Given the description of an element on the screen output the (x, y) to click on. 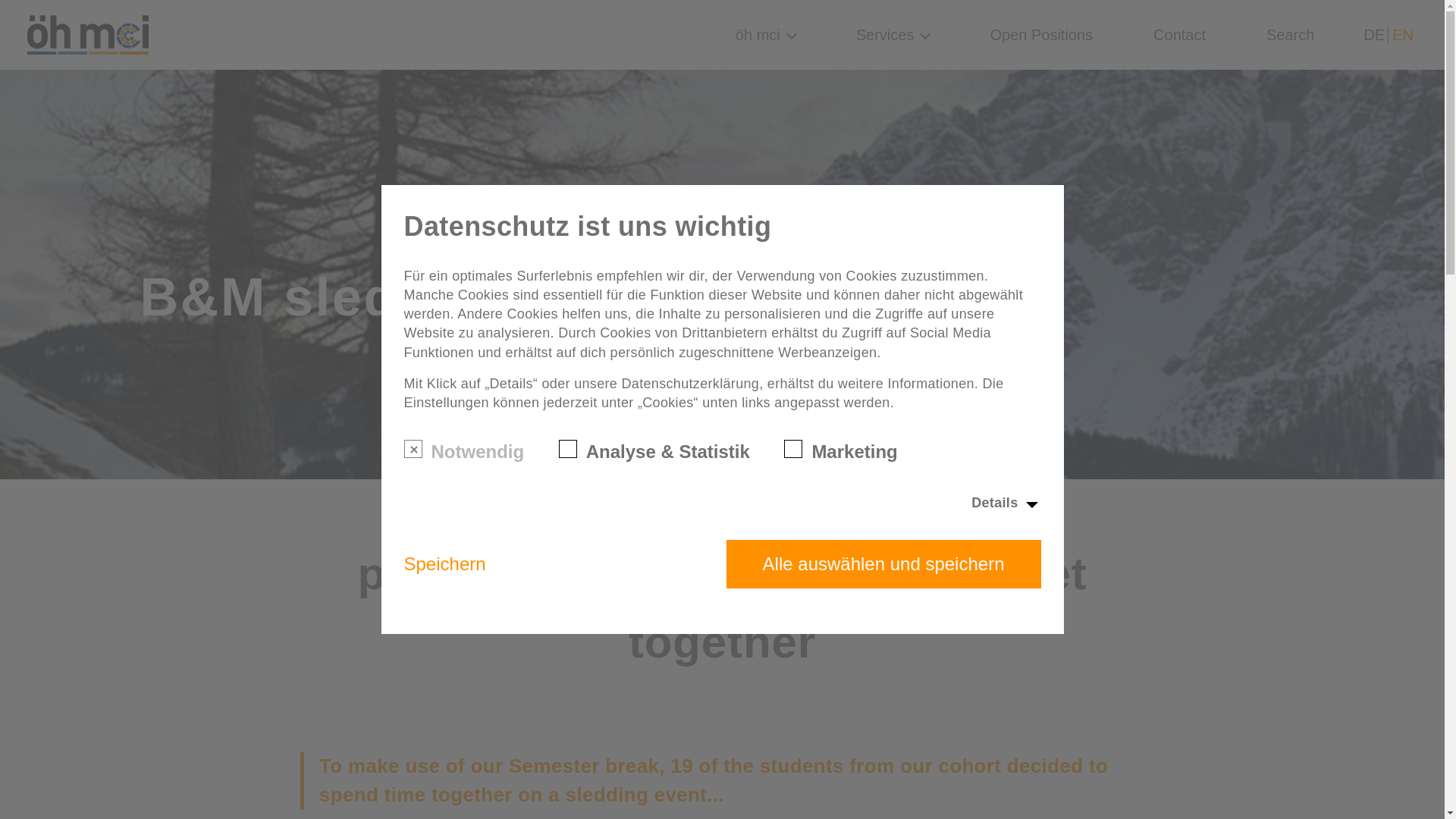
Contact (1179, 34)
German (1374, 35)
Search (1290, 34)
English (1402, 35)
Services (893, 34)
Open Positions (1041, 34)
